Given the description of an element on the screen output the (x, y) to click on. 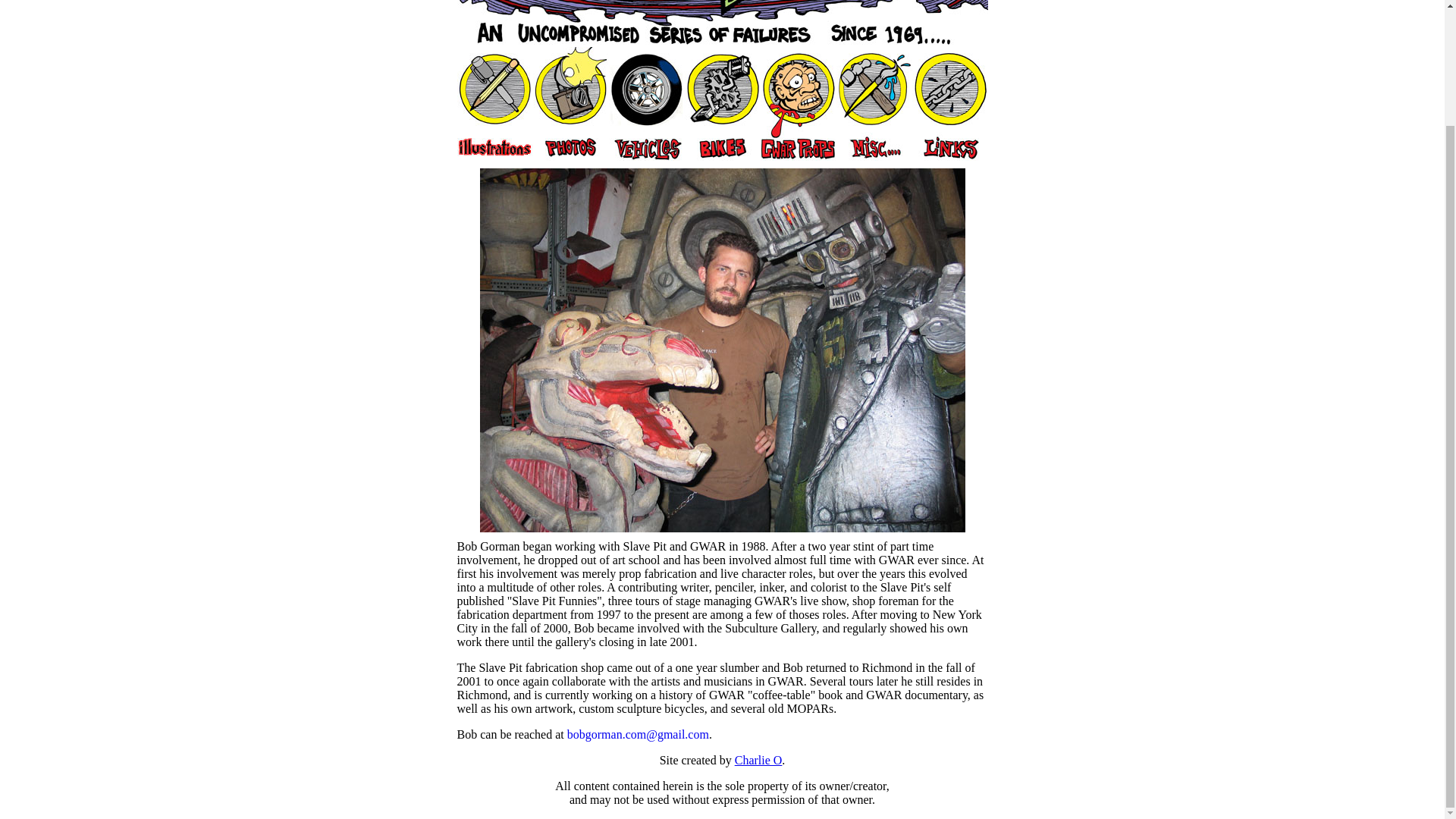
Charlie O (759, 759)
